Given the description of an element on the screen output the (x, y) to click on. 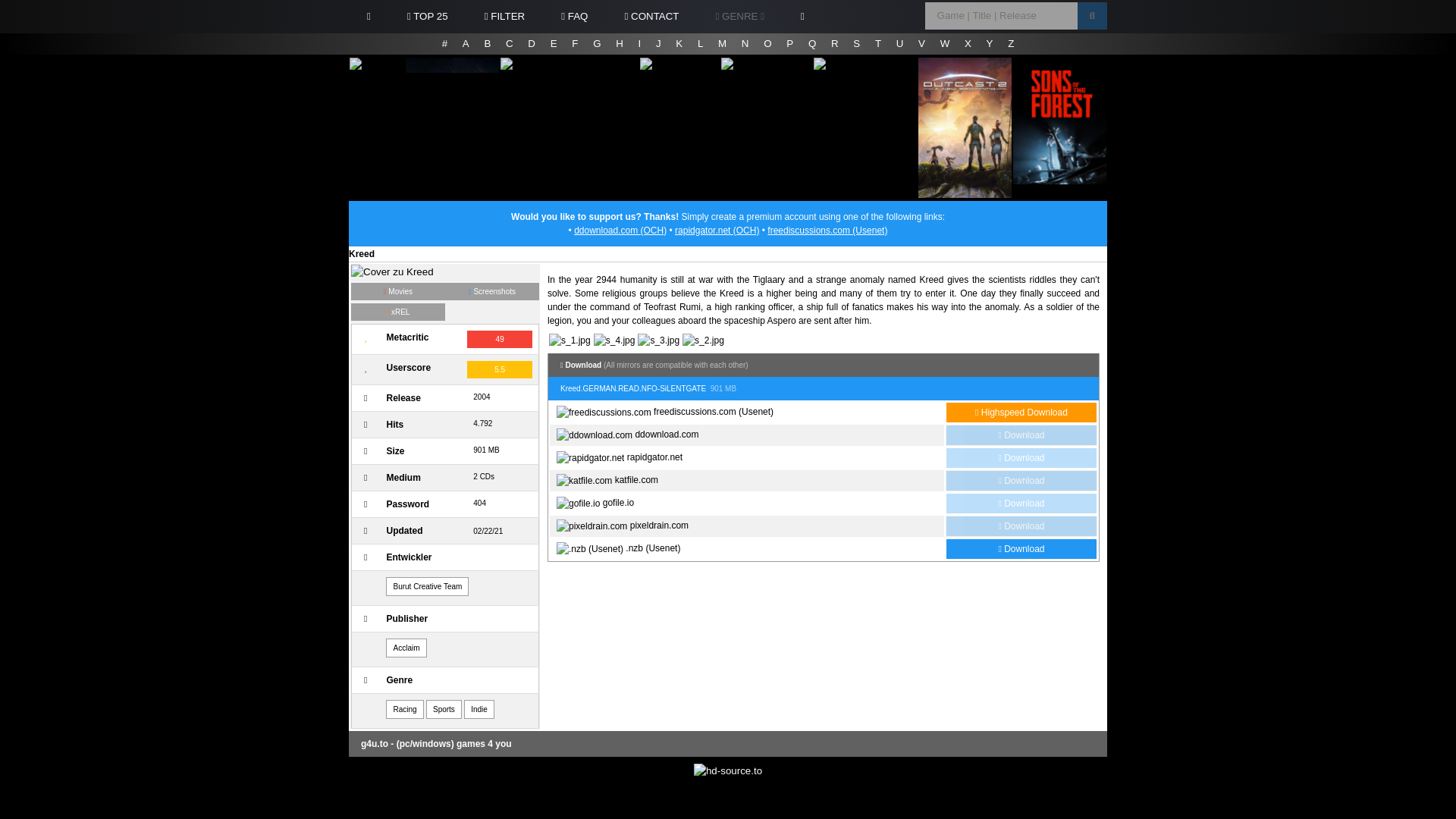
C (509, 43)
Alle Spiele mit G (596, 43)
Alle Spiele mit K (678, 43)
Alle Spiele mit A (466, 43)
TOP 25 (426, 16)
Alle Spiele mit C (509, 43)
A (466, 43)
E (553, 43)
Alle Spiele mit M (721, 43)
Alle Spiele mit E (553, 43)
Alle Spiele mit D (531, 43)
B (486, 43)
CONTACT (651, 16)
FILTER (504, 16)
Alle Spiele mit O (767, 43)
